Given the description of an element on the screen output the (x, y) to click on. 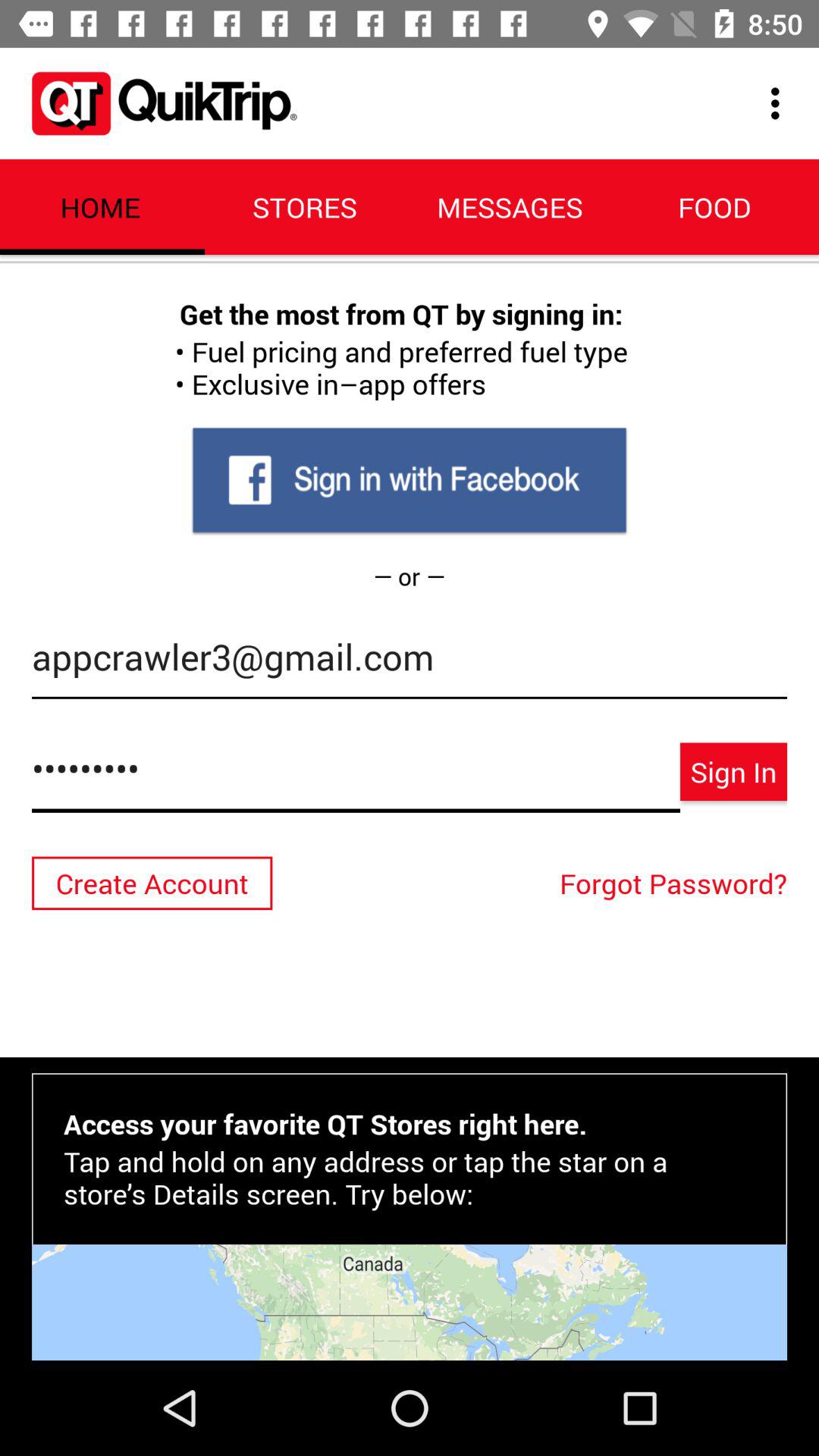
press icon next to sign in icon (355, 776)
